Given the description of an element on the screen output the (x, y) to click on. 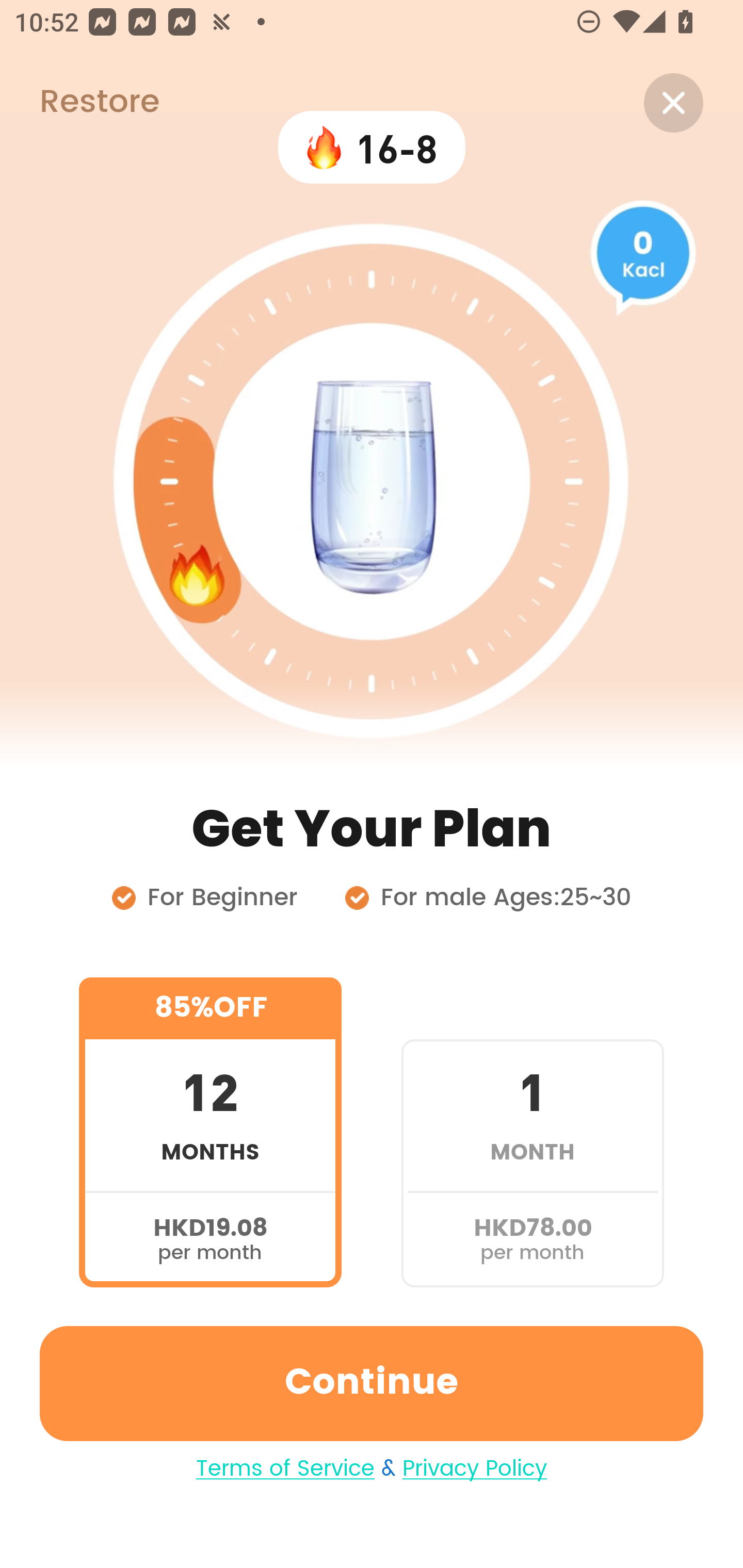
Restore (79, 102)
85%OFF 12 MONTHS per month HKD19.08 (209, 1131)
1 MONTH per month HKD78.00 (532, 1131)
Continue (371, 1383)
